Given the description of an element on the screen output the (x, y) to click on. 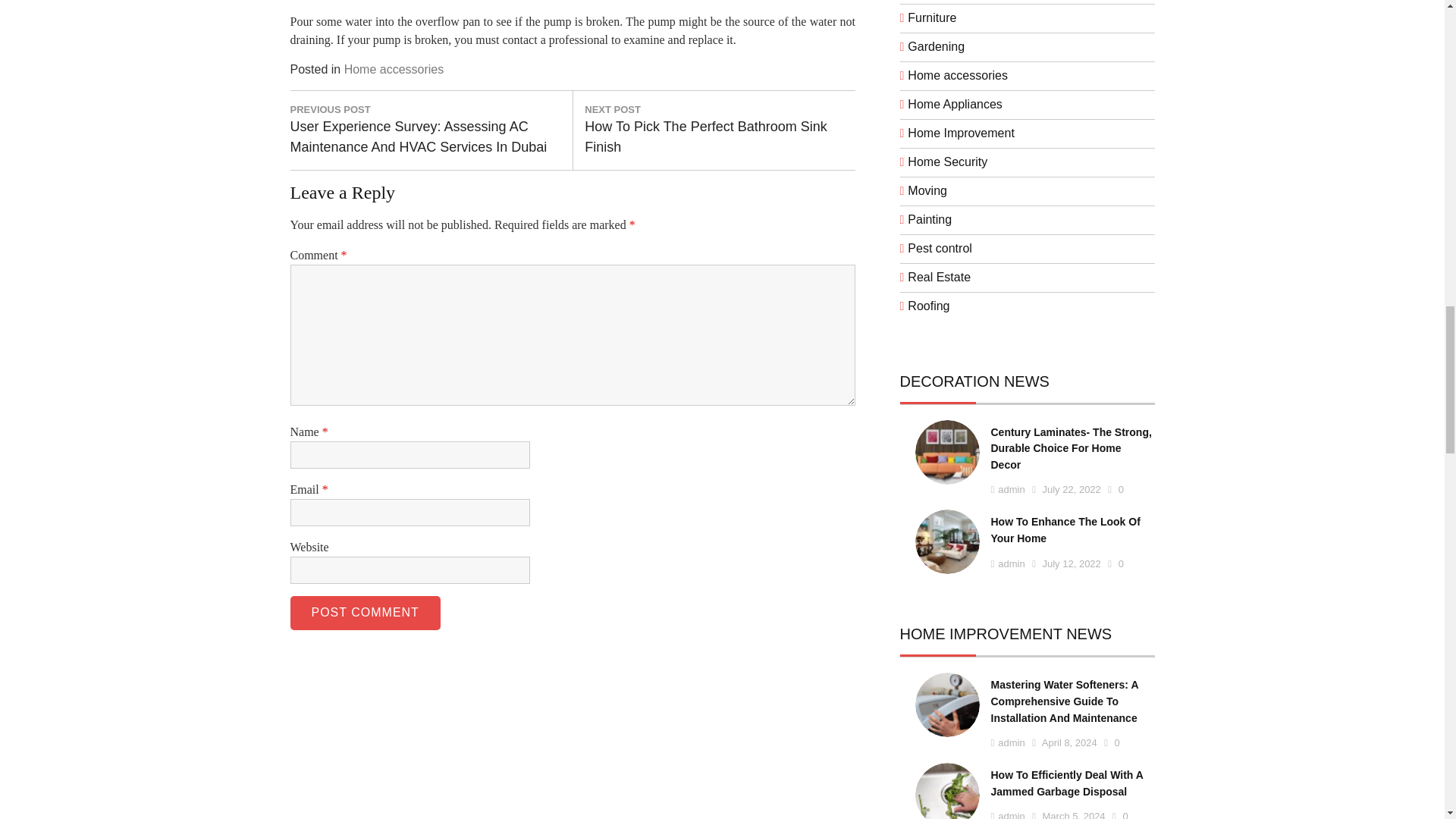
Post Comment (364, 612)
